Given the description of an element on the screen output the (x, y) to click on. 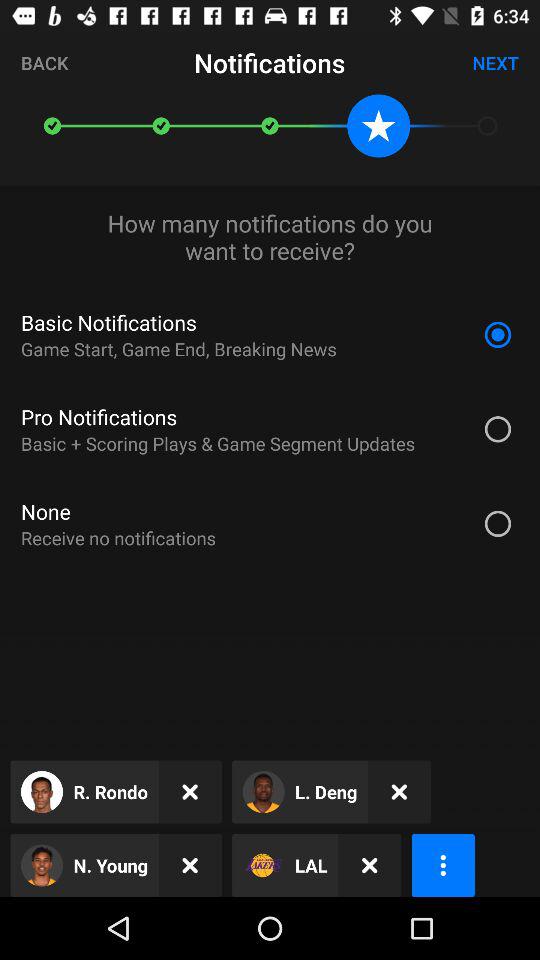
swipe until the next (495, 62)
